Given the description of an element on the screen output the (x, y) to click on. 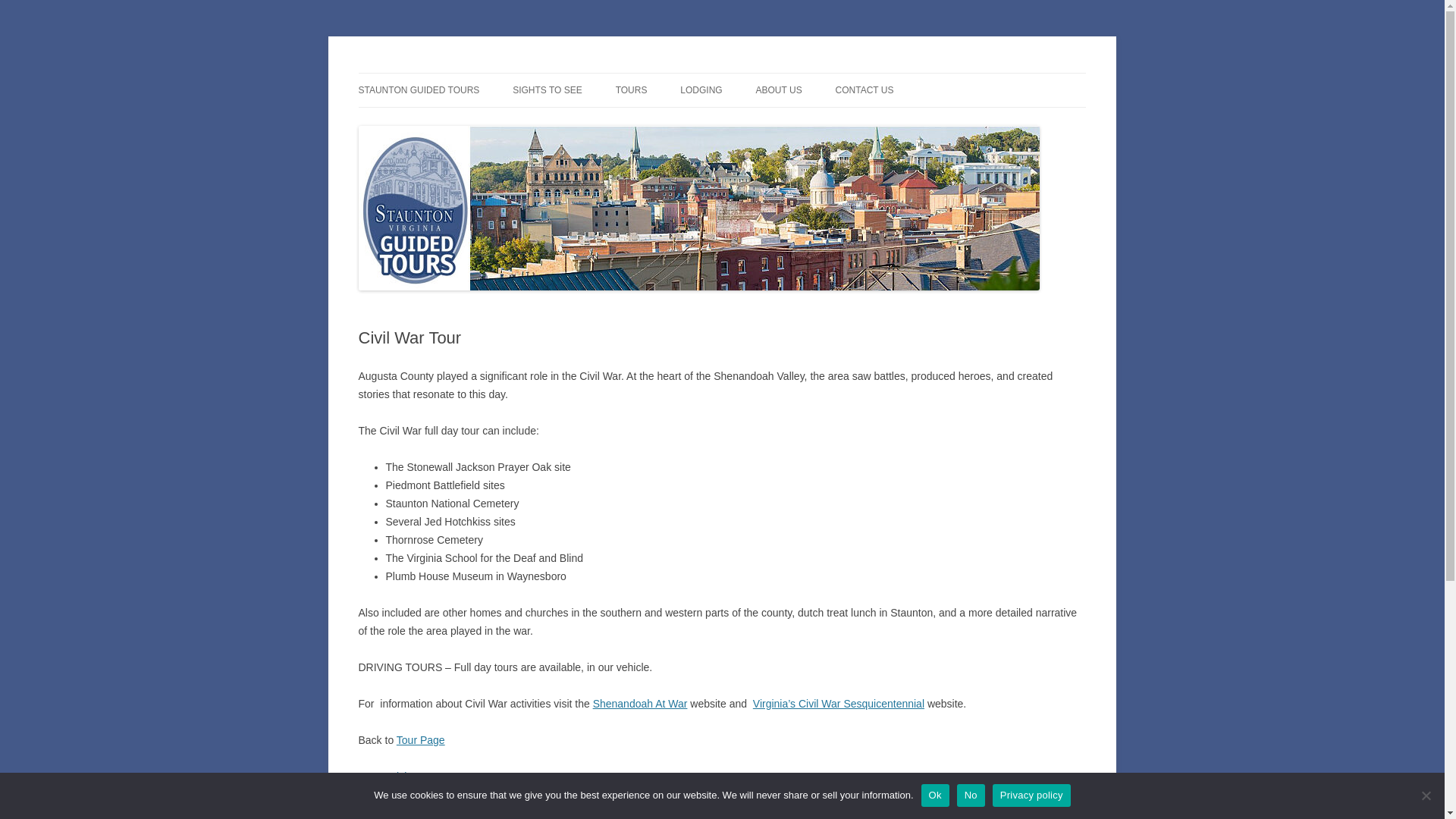
LODGING (700, 90)
SIGHTS TO SEE (547, 90)
ABOUT US (778, 90)
Ok (935, 794)
Shenandoah At War (639, 703)
Privacy policy (1031, 794)
WALKING TOURS (691, 122)
CONTACT US (864, 90)
Staunton Guided Tours (466, 72)
